Given the description of an element on the screen output the (x, y) to click on. 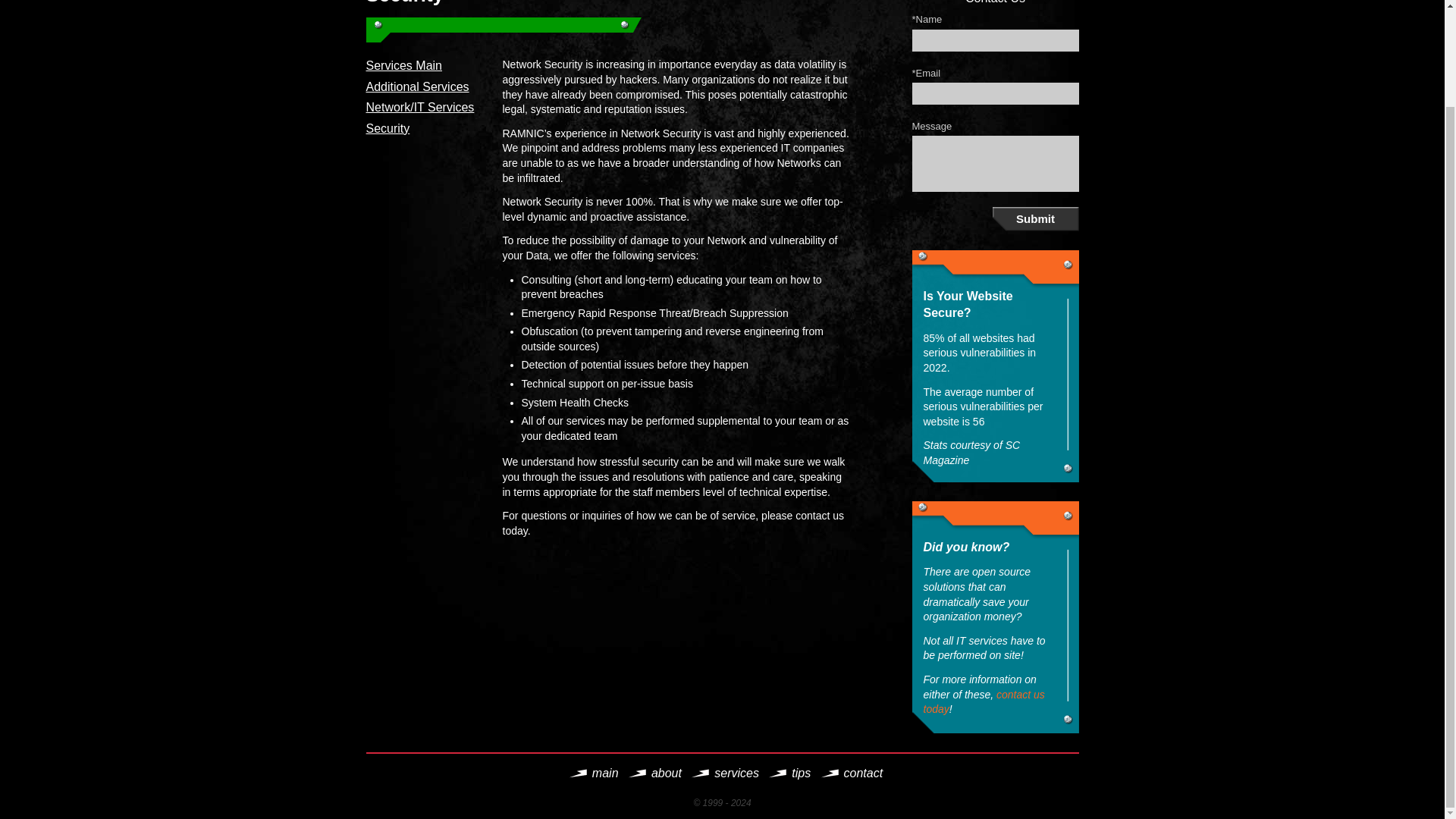
Submit (1034, 218)
services (736, 772)
about (665, 772)
Additional Services (416, 86)
Submit (1034, 218)
tips (801, 772)
main (605, 772)
contact (863, 772)
Security (387, 128)
contact us today (984, 700)
